Given the description of an element on the screen output the (x, y) to click on. 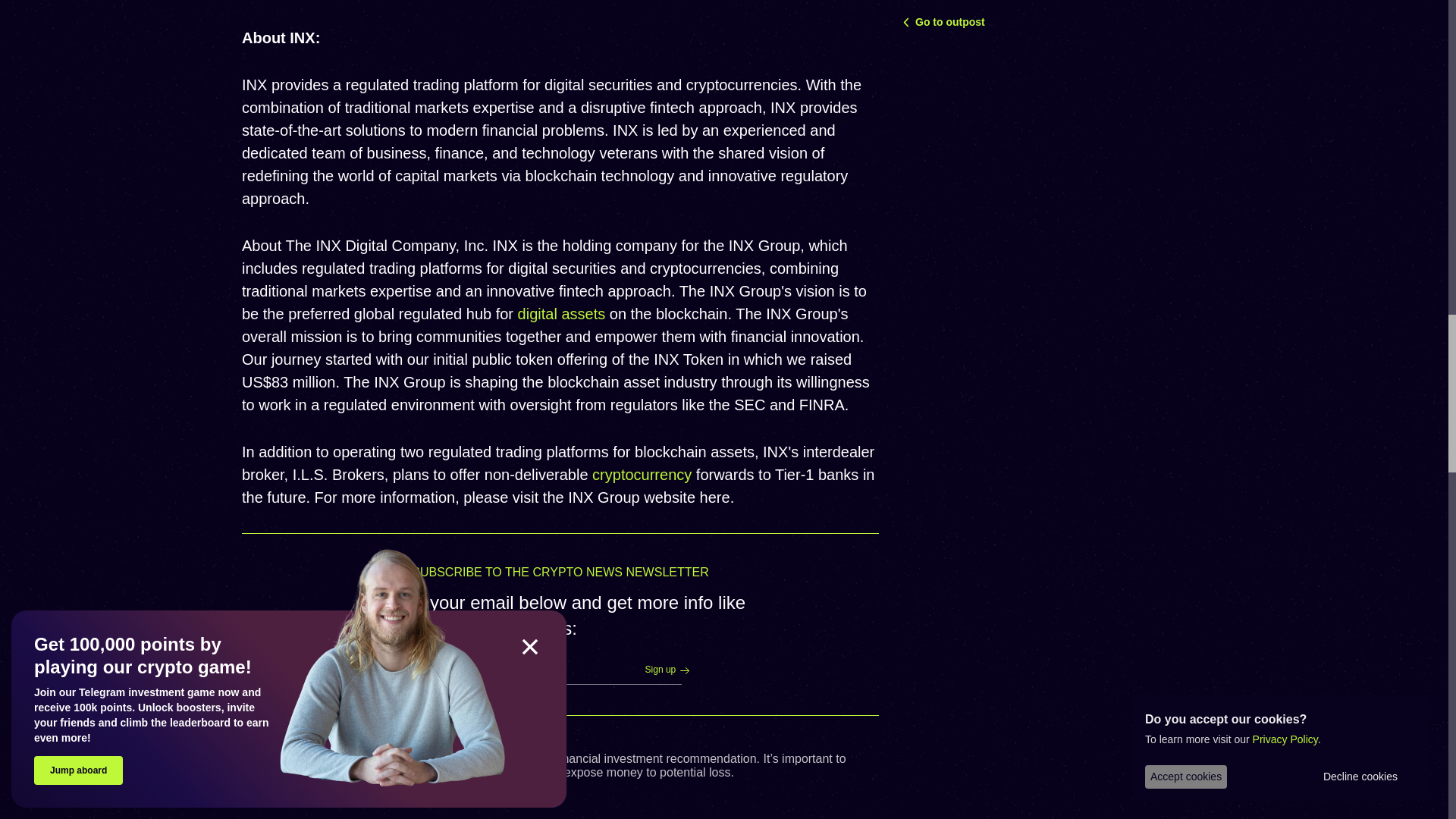
cryptocurrency (641, 474)
Sign up (657, 669)
digital assets (561, 313)
